Given the description of an element on the screen output the (x, y) to click on. 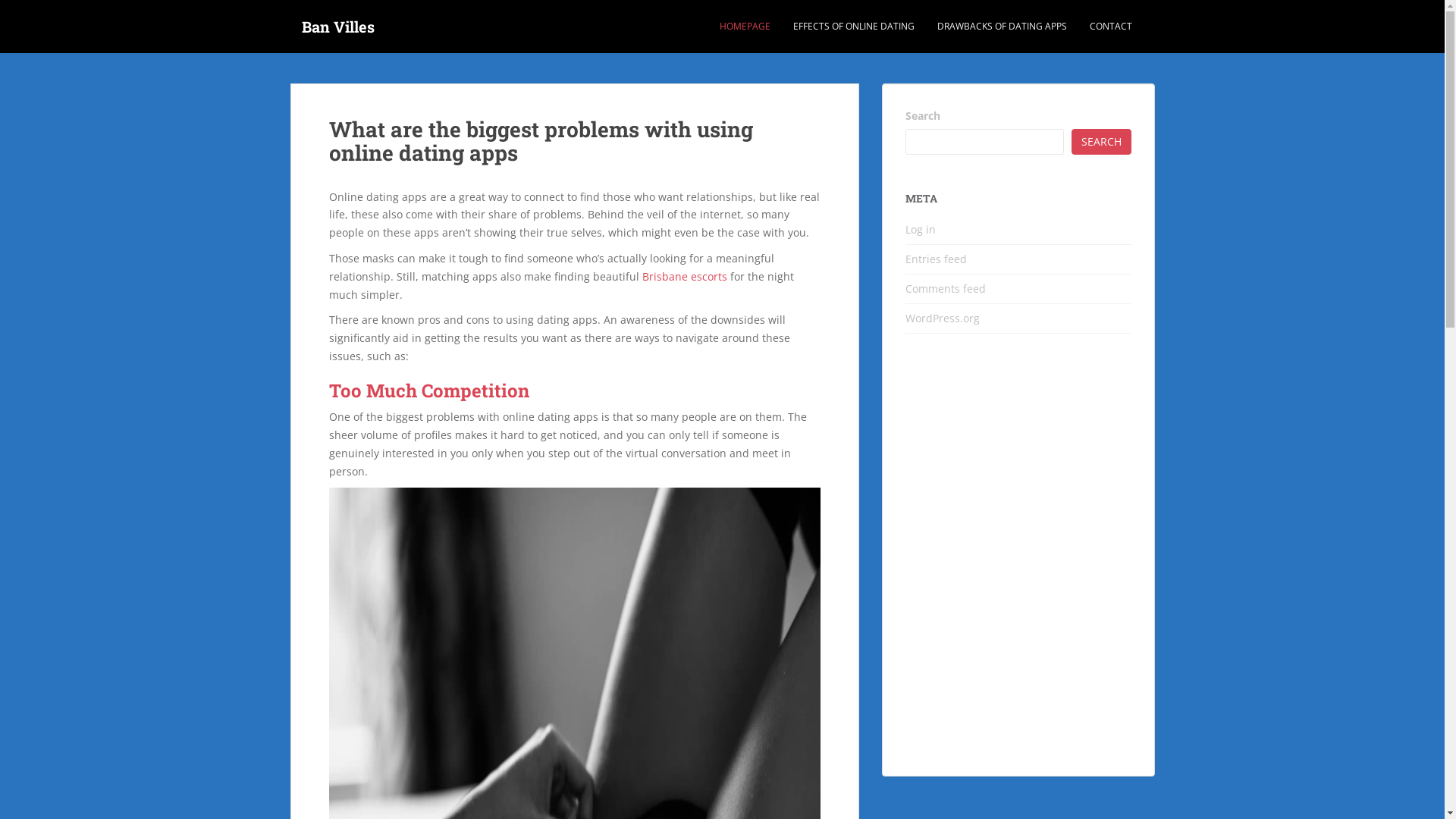
Brisbane escorts Element type: text (683, 276)
WordPress.org Element type: text (942, 317)
EFFECTS OF ONLINE DATING Element type: text (853, 26)
Ban Villes Element type: text (337, 26)
HOMEPAGE Element type: text (743, 26)
Infidelity - An escorts persepective Element type: hover (1018, 563)
DRAWBACKS OF DATING APPS Element type: text (1001, 26)
SEARCH Element type: text (1100, 141)
Comments feed Element type: text (945, 288)
Log in Element type: text (920, 229)
Entries feed Element type: text (935, 258)
CONTACT Element type: text (1109, 26)
